Given the description of an element on the screen output the (x, y) to click on. 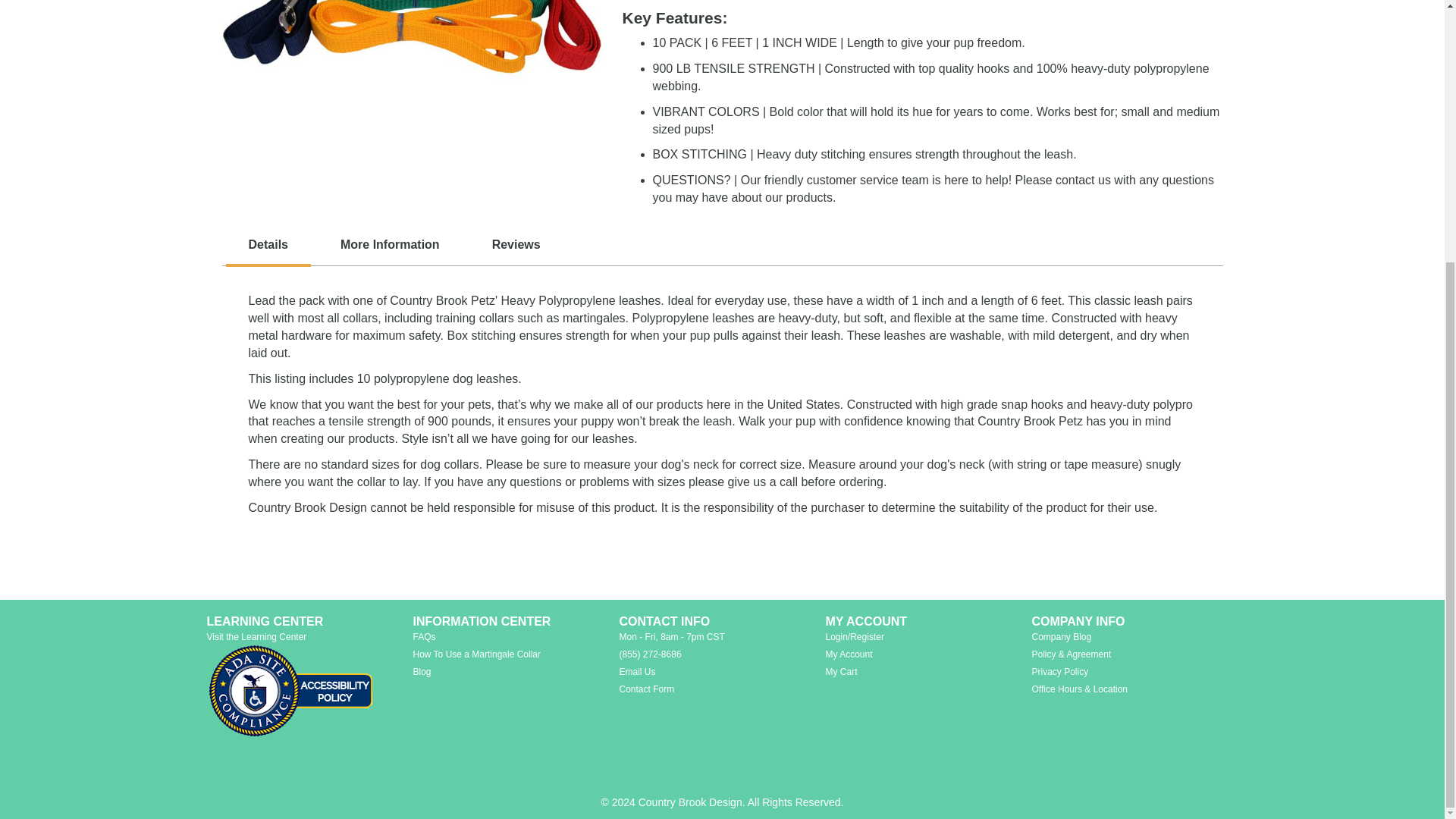
FAQs (423, 636)
Blog (421, 671)
Learning Center (255, 636)
How To Use a Martingale Collar (476, 654)
